Given the description of an element on the screen output the (x, y) to click on. 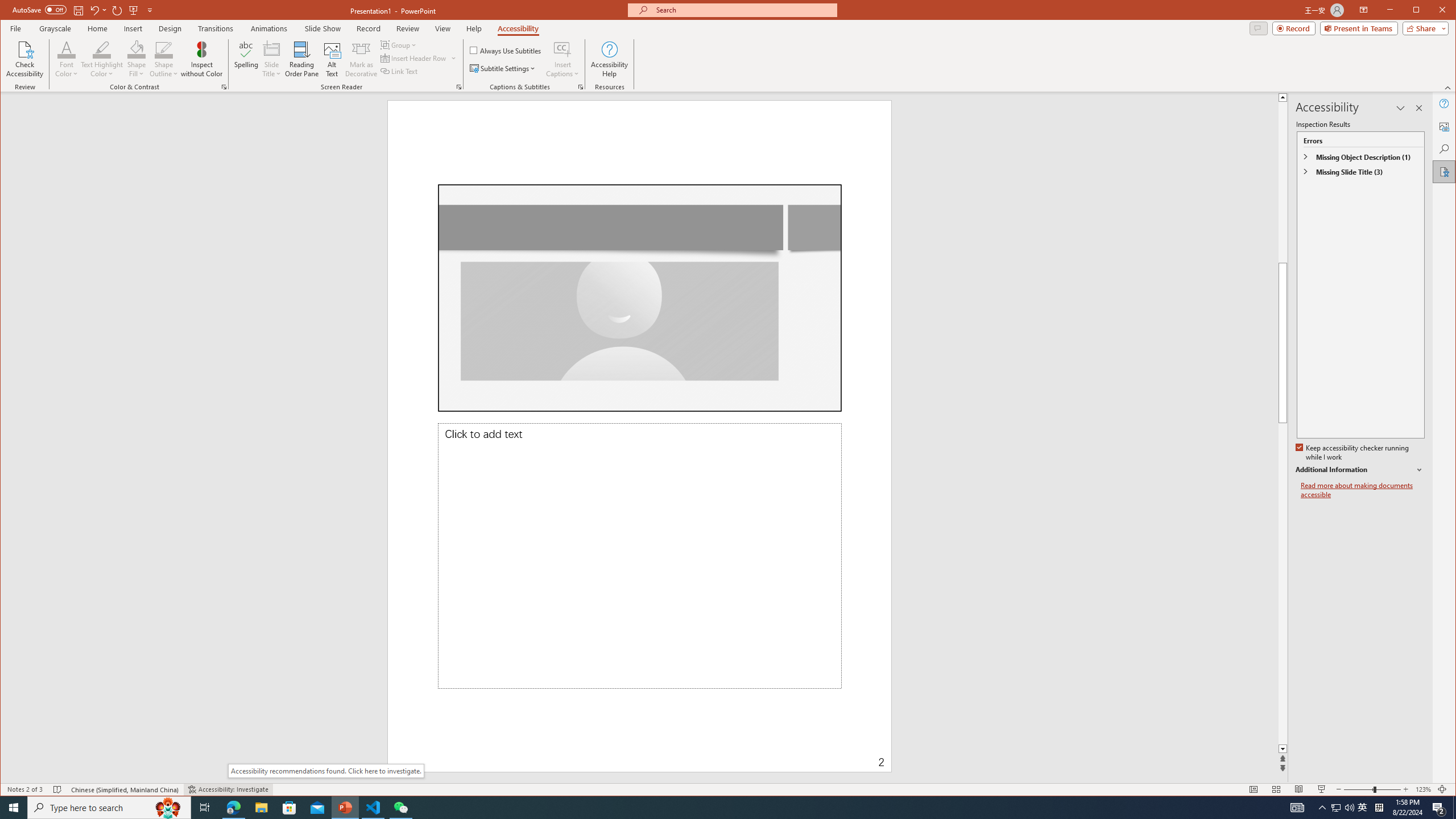
Page Number (781, 754)
Color & Contrast (223, 86)
Insert Captions (562, 59)
